Given the description of an element on the screen output the (x, y) to click on. 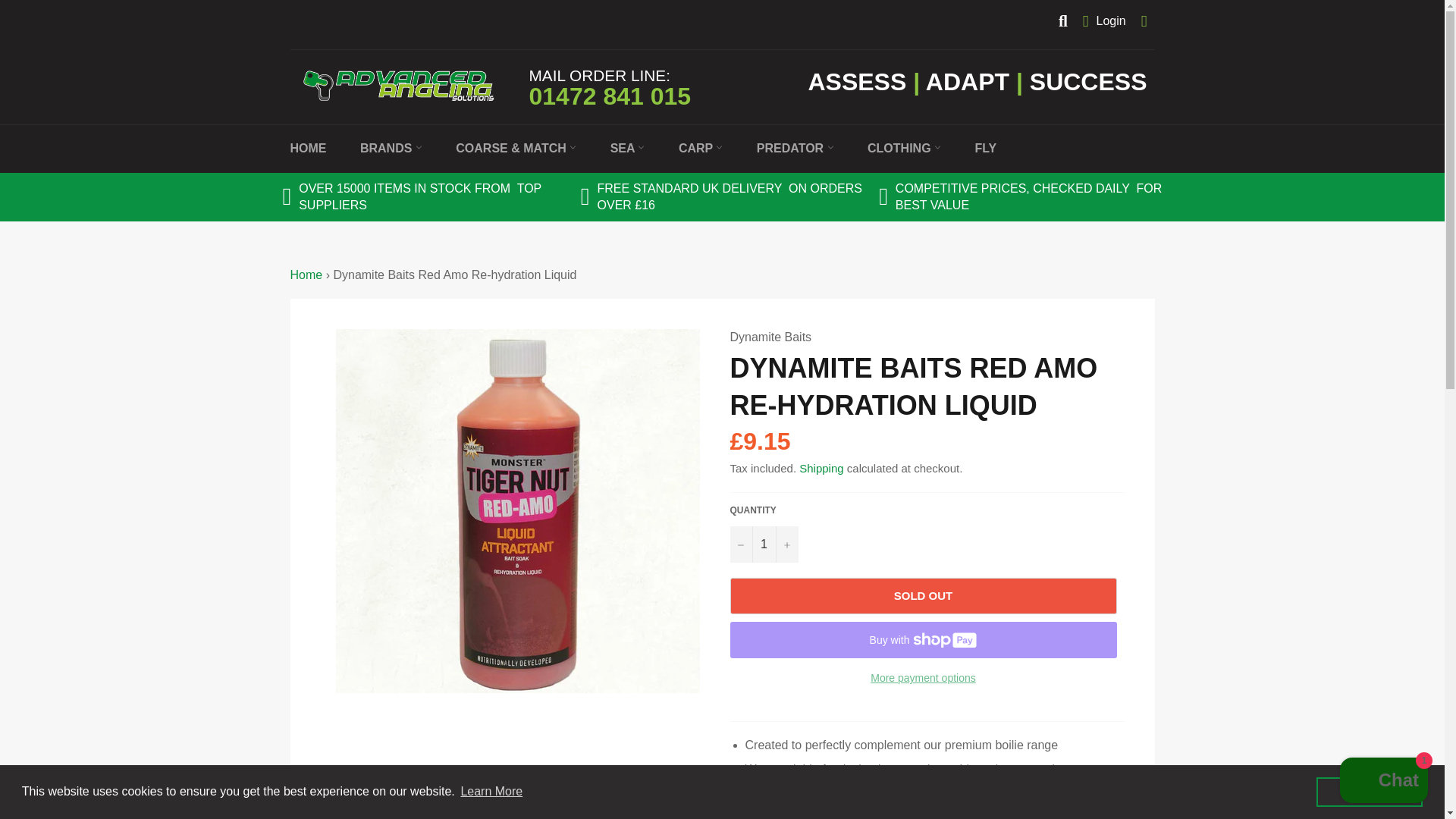
Home (305, 274)
Learn More (491, 791)
Got it! (1369, 791)
1 (763, 544)
Shopify online store chat (1383, 781)
